Given the description of an element on the screen output the (x, y) to click on. 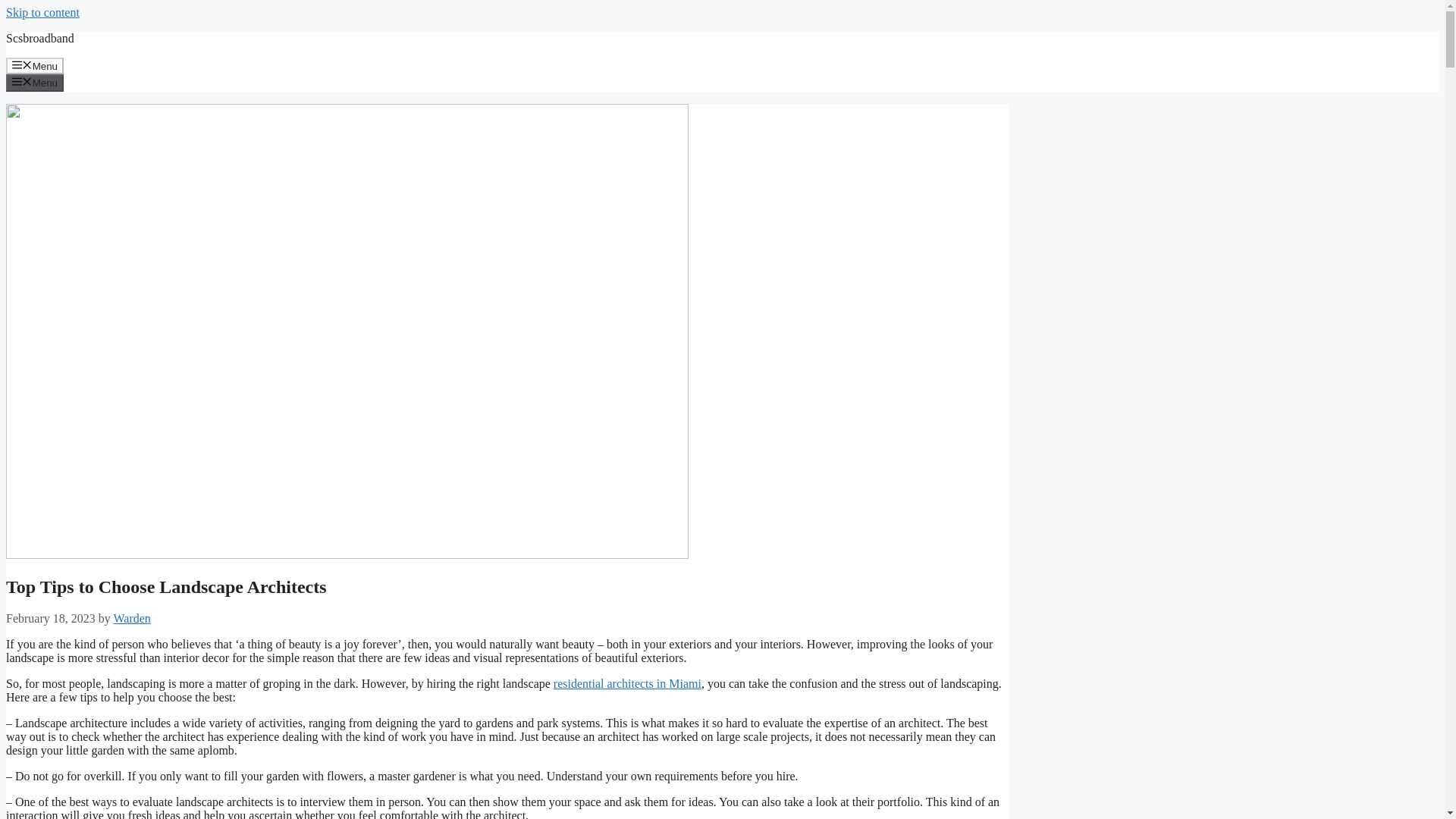
Menu (34, 65)
residential architects in Miami (627, 683)
View all posts by Warden (131, 617)
Warden (131, 617)
Skip to content (42, 11)
Skip to content (42, 11)
Scsbroadband (39, 38)
Menu (34, 82)
